Given the description of an element on the screen output the (x, y) to click on. 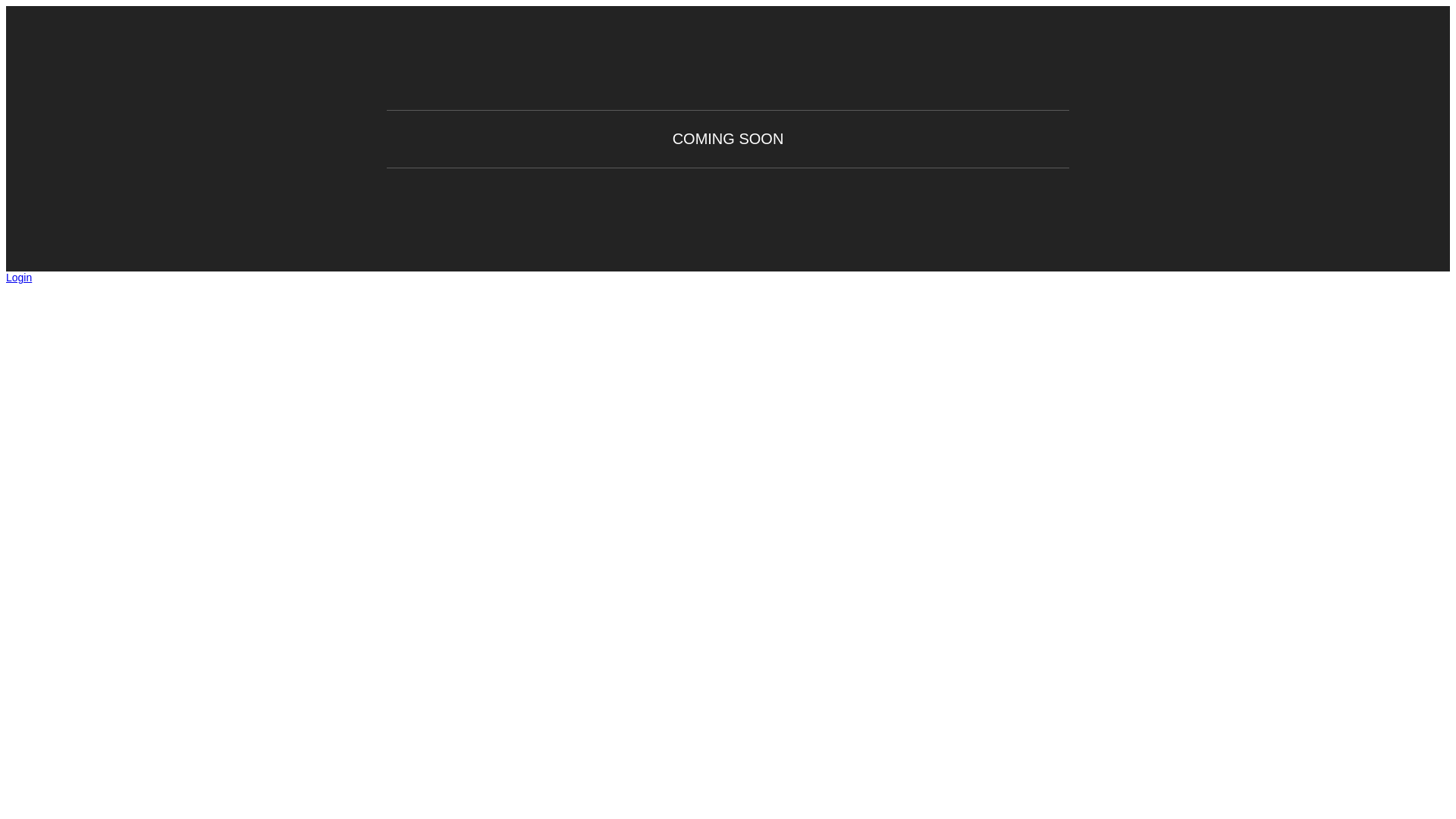
Login Element type: text (18, 277)
